Given the description of an element on the screen output the (x, y) to click on. 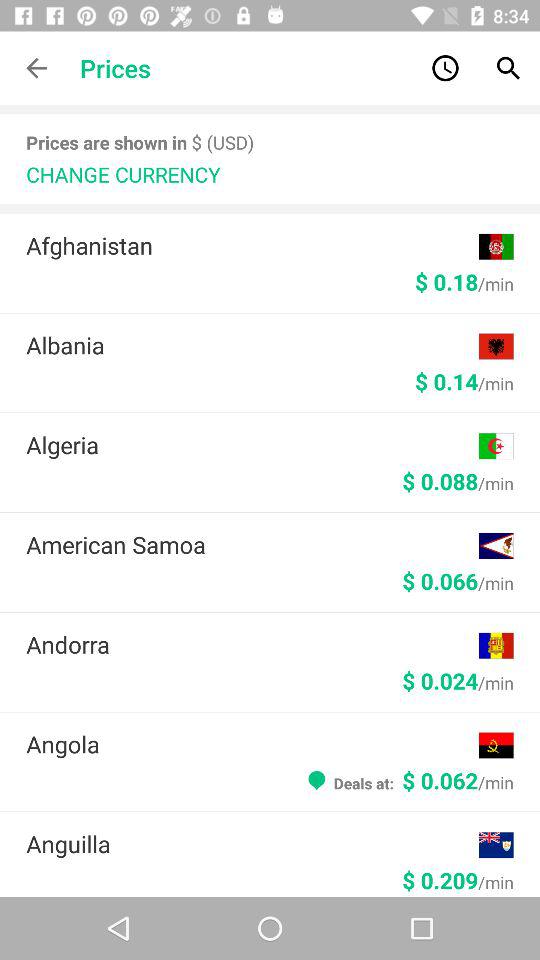
open albania item (252, 345)
